Given the description of an element on the screen output the (x, y) to click on. 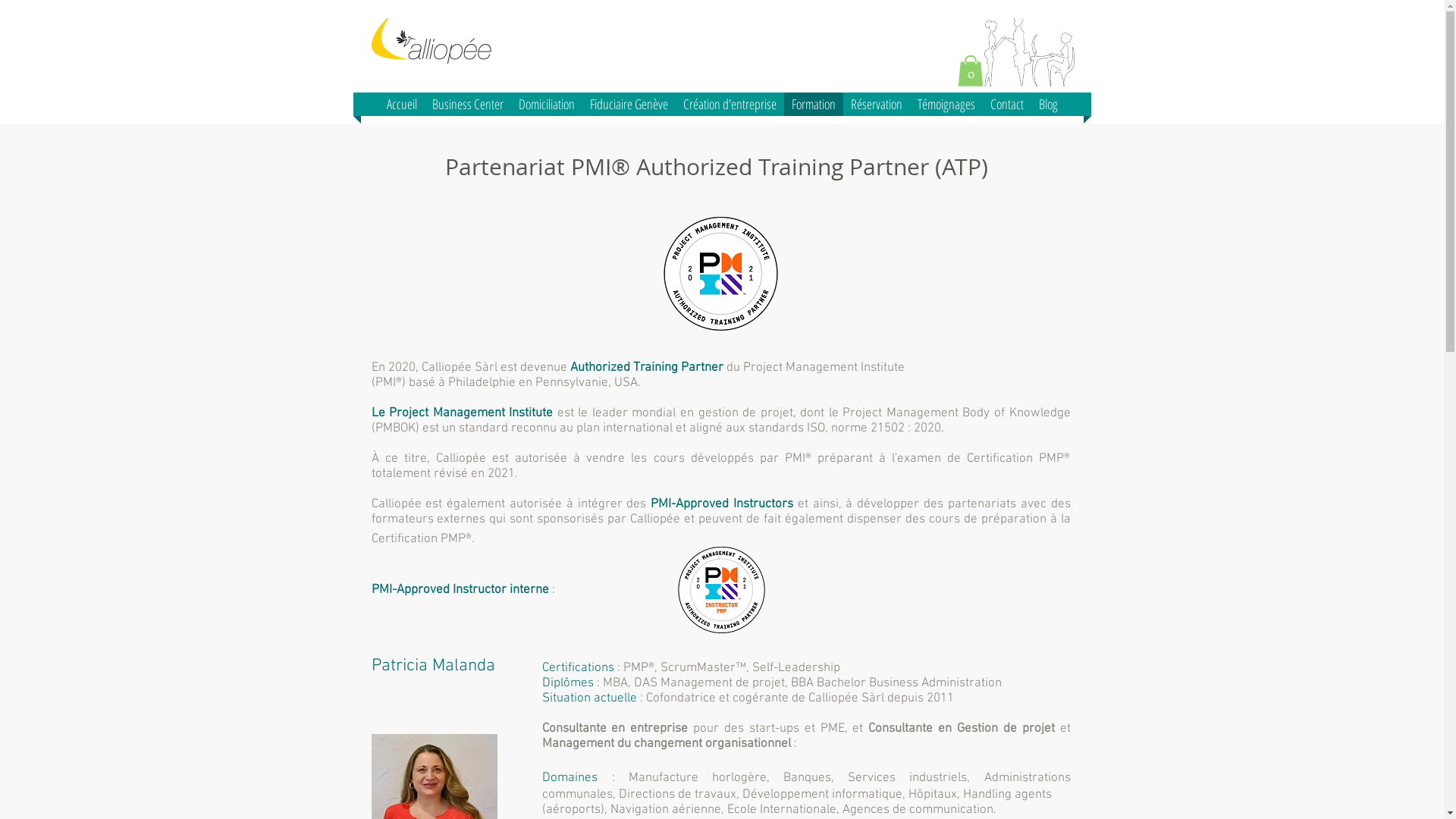
Vitrine_AM.png Element type: hover (1029, 52)
Business Center Element type: text (467, 104)
Blog Element type: text (1048, 104)
0 Element type: text (969, 70)
Calliopee_logo.png Element type: hover (431, 40)
Contact Element type: text (1006, 104)
Domiciliation Element type: text (546, 104)
Formation Element type: text (813, 104)
Accueil Element type: text (401, 104)
